Given the description of an element on the screen output the (x, y) to click on. 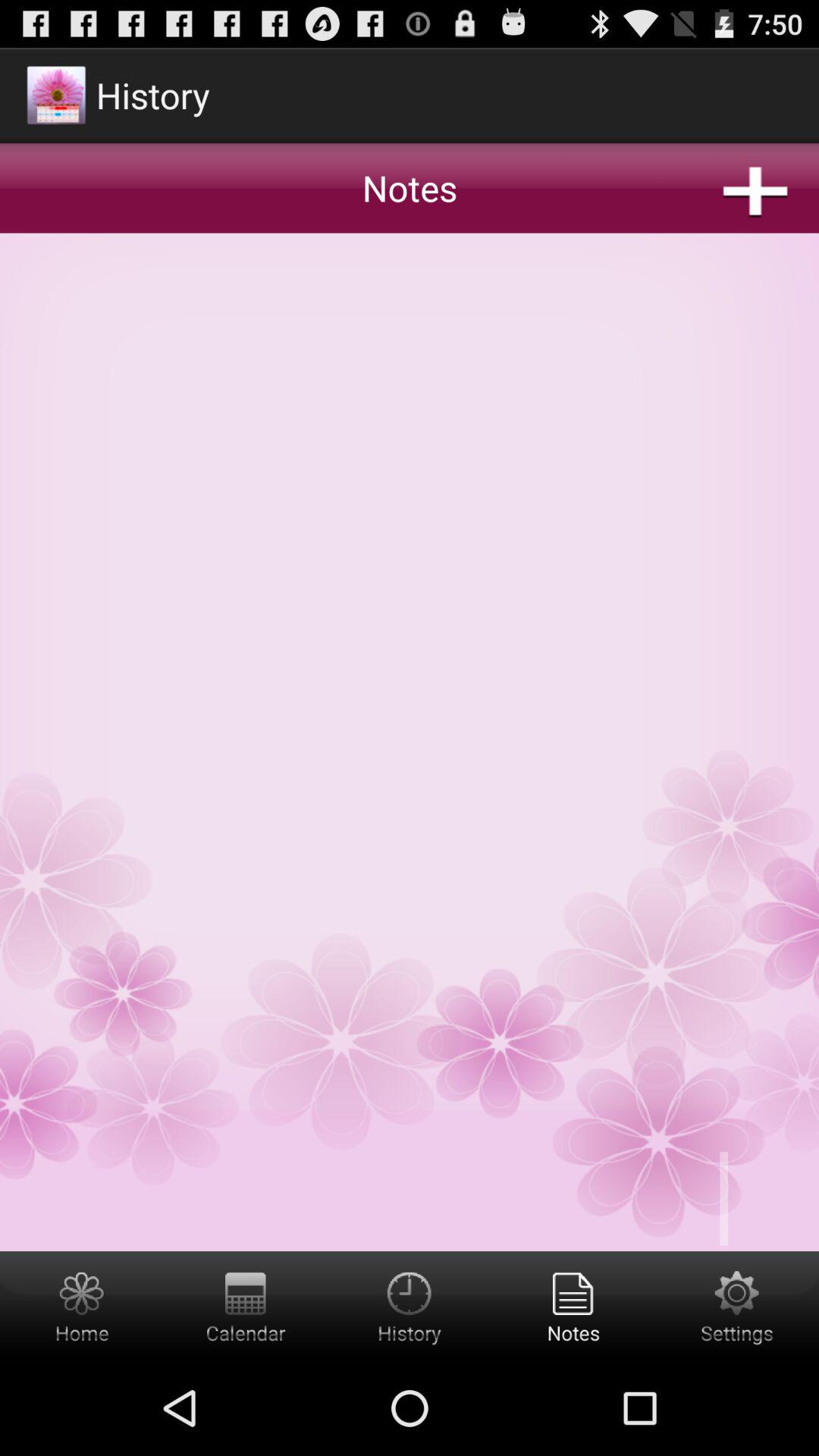
button to view history (409, 1305)
